Given the description of an element on the screen output the (x, y) to click on. 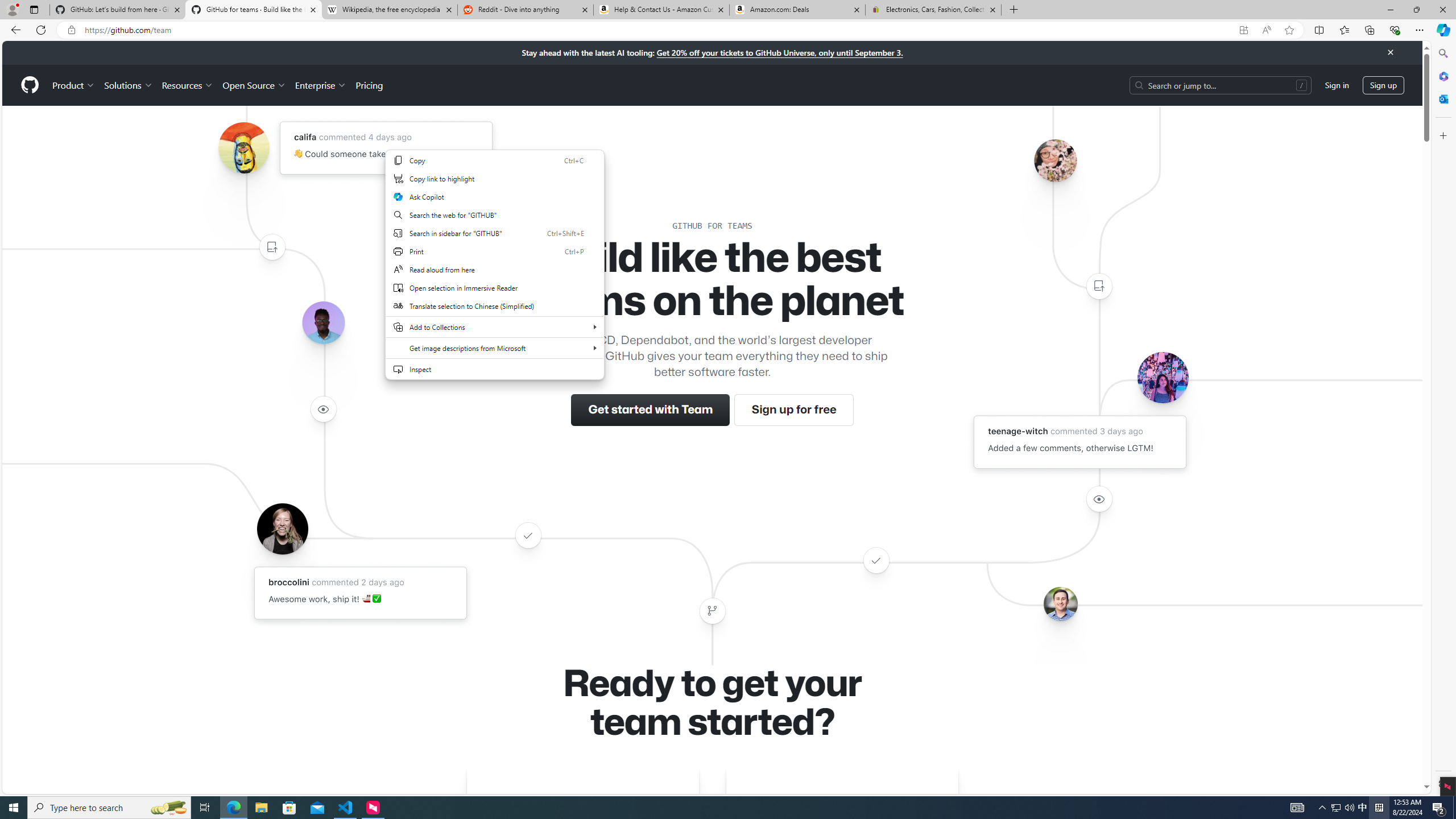
Get started with Team (650, 409)
Open Source (254, 84)
Wikipedia, the free encyclopedia (390, 9)
Ask Copilot (494, 196)
Avatar of the user califa (243, 147)
Pricing (368, 84)
